Given the description of an element on the screen output the (x, y) to click on. 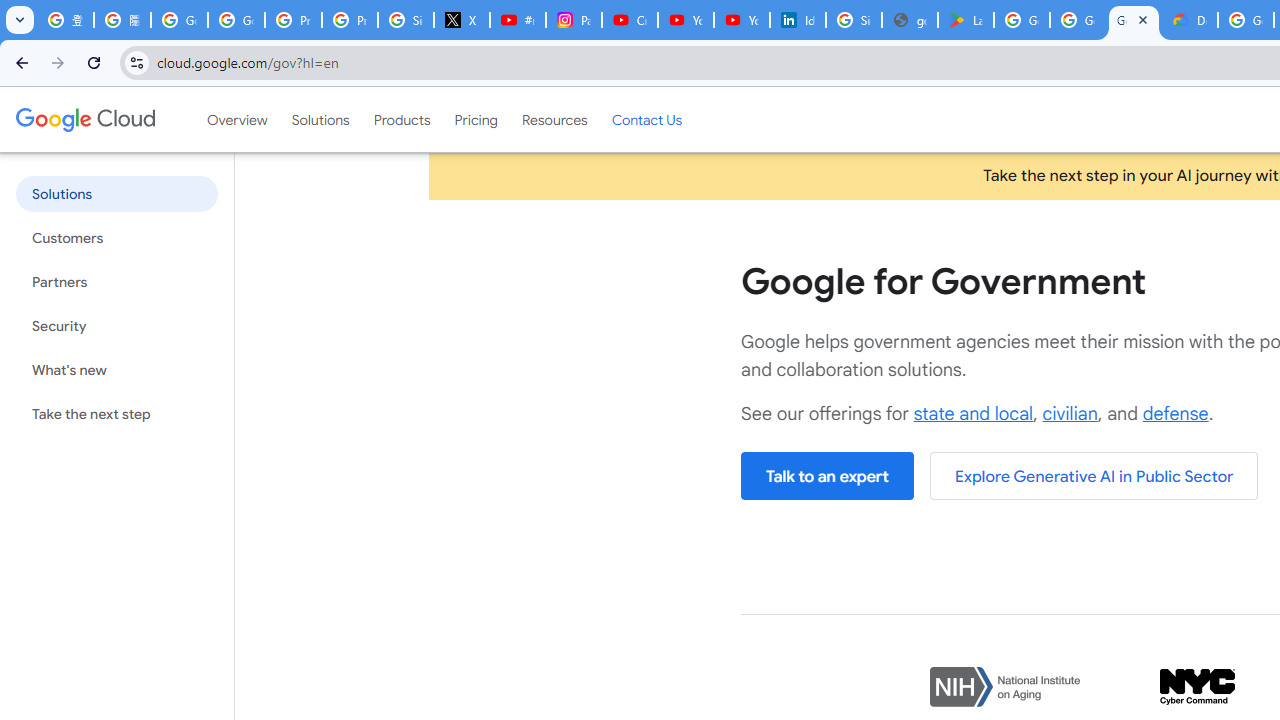
Government | Google Cloud (1133, 20)
What's new (116, 370)
#nbabasketballhighlights - YouTube (518, 20)
Partners (116, 282)
X (461, 20)
Talk to an expert (827, 475)
Resources (553, 119)
Google Cloud (84, 119)
Security (116, 326)
